Given the description of an element on the screen output the (x, y) to click on. 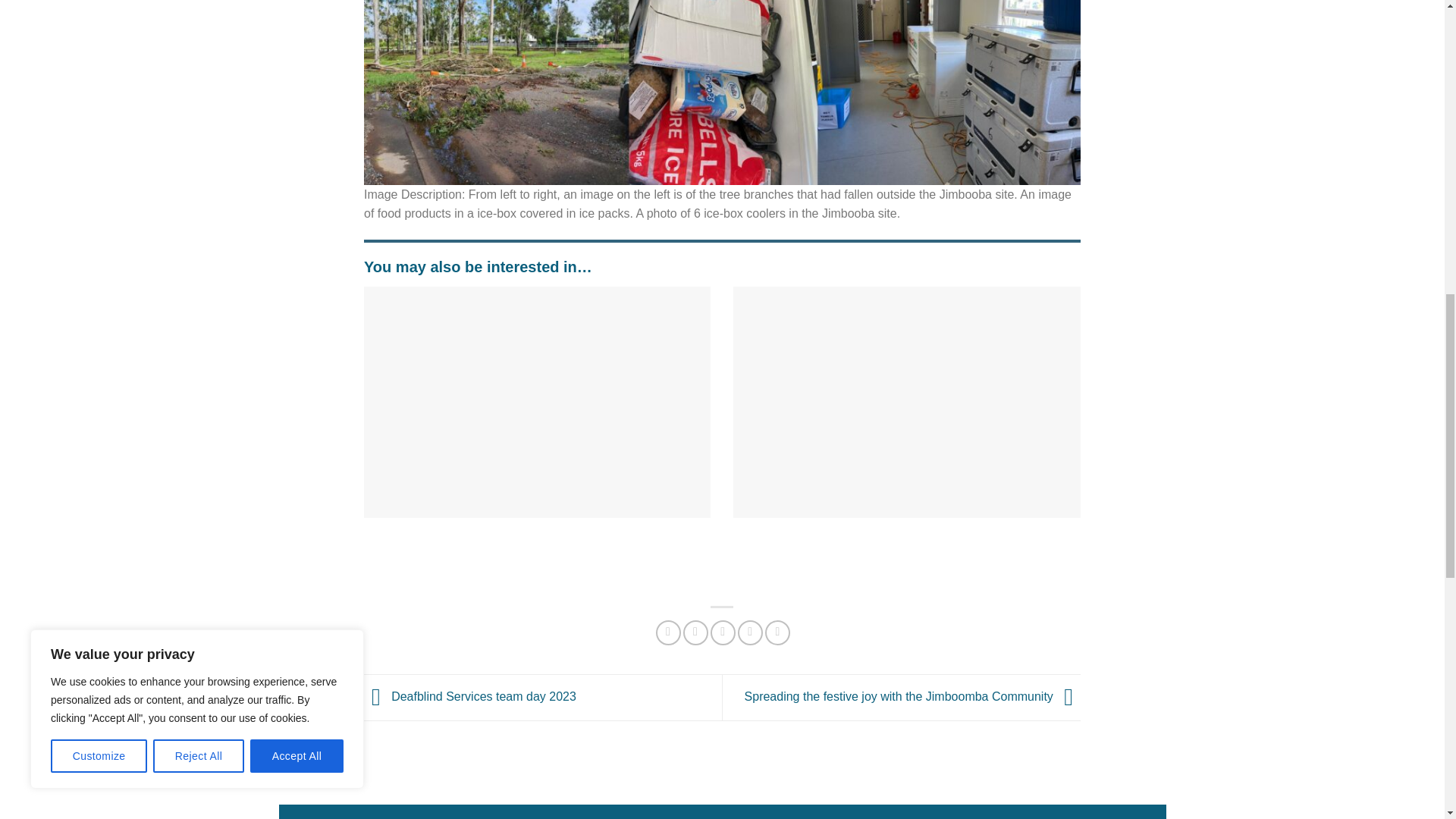
Share on Facebook (668, 632)
Email to a Friend (722, 632)
Share on LinkedIn (777, 632)
Share on Twitter (694, 632)
Pin on Pinterest (750, 632)
